Given the description of an element on the screen output the (x, y) to click on. 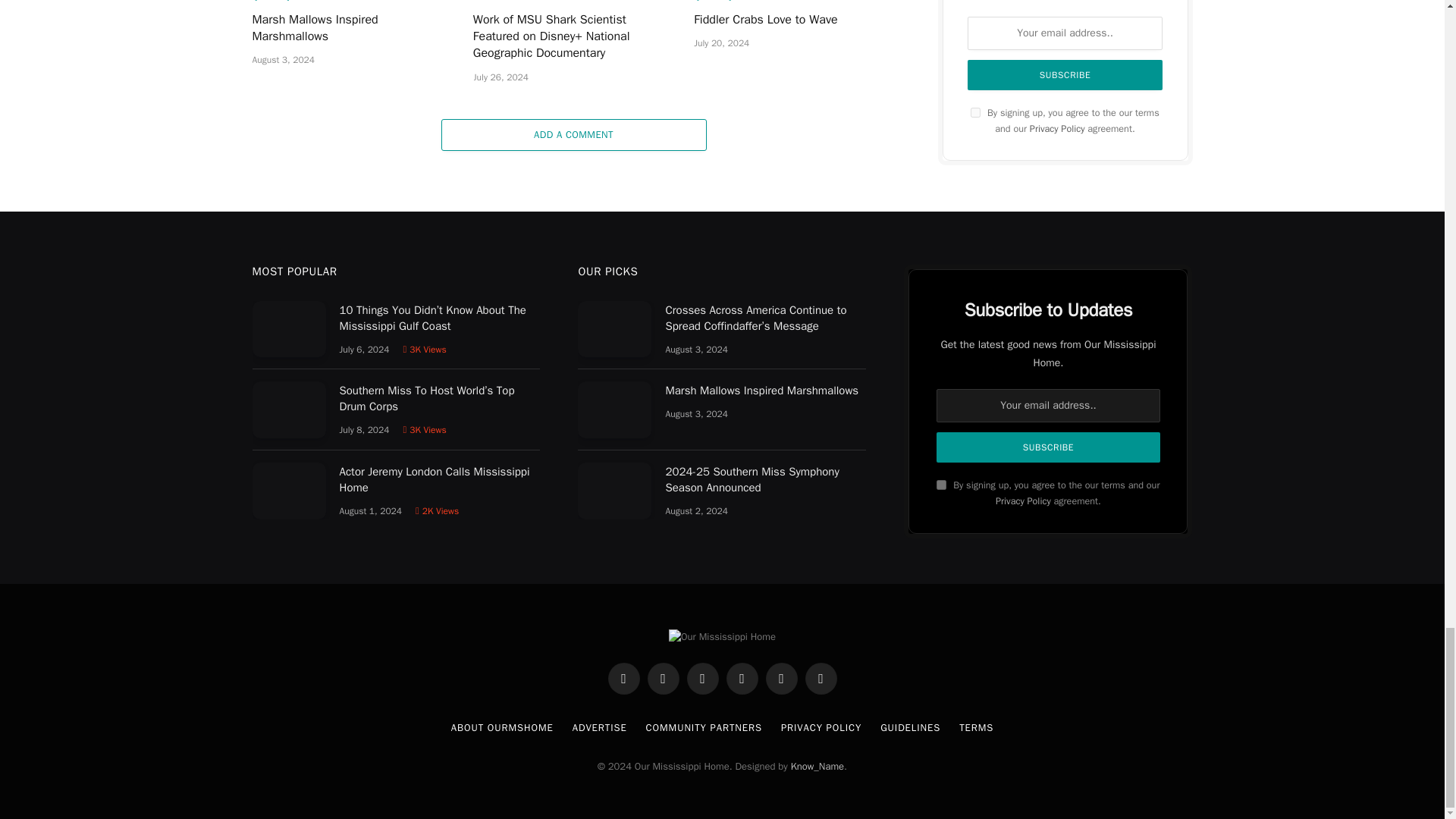
Subscribe (1047, 447)
on (941, 484)
